Given the description of an element on the screen output the (x, y) to click on. 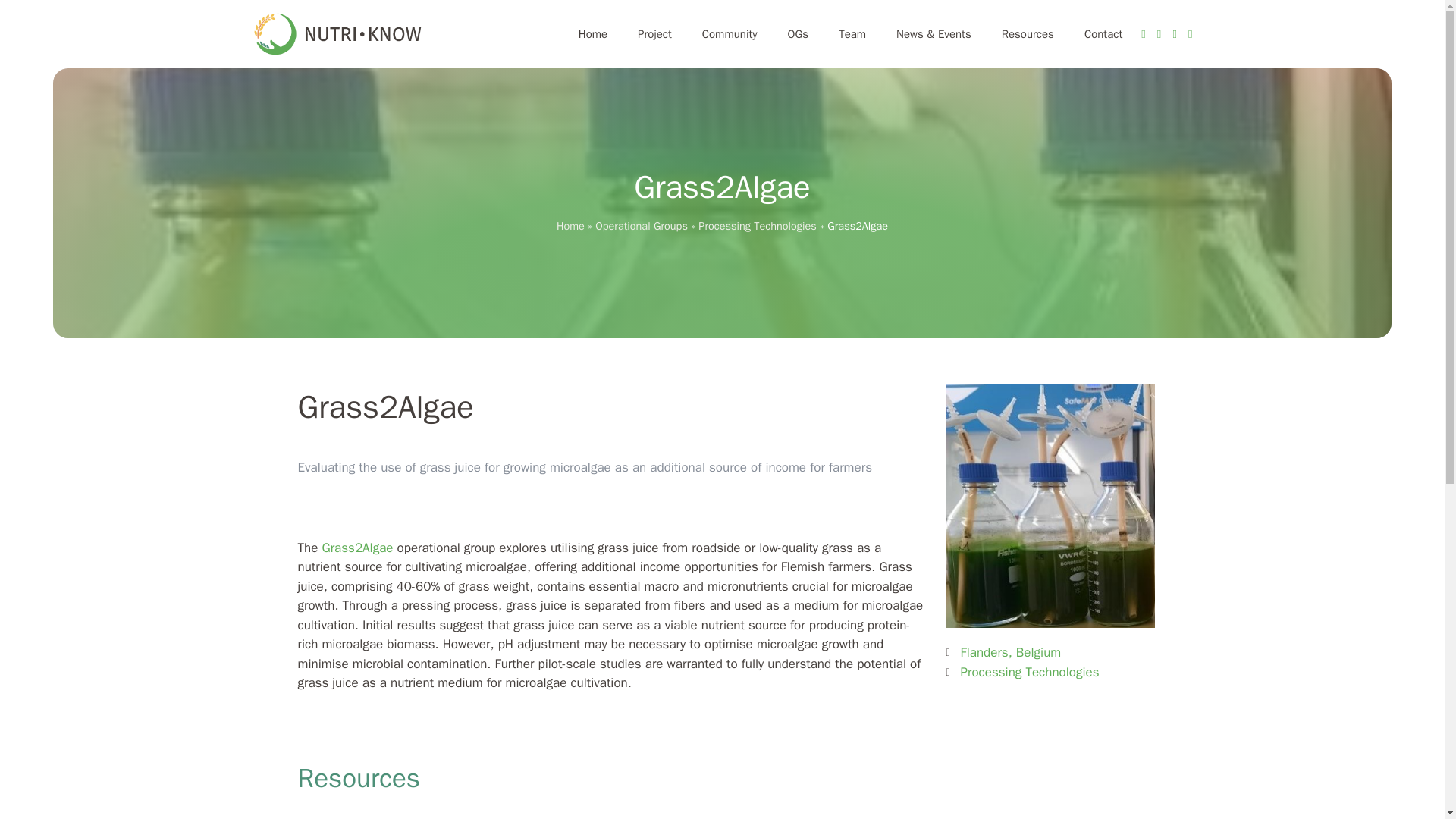
Operational Groups (641, 225)
Flanders, Belgium (1050, 757)
Processing Technologies (1029, 672)
OGs (798, 33)
Contact (1102, 33)
Team (852, 33)
Processing Technologies (756, 225)
Grass2Algae (357, 547)
Home (570, 225)
Project (655, 33)
